Given the description of an element on the screen output the (x, y) to click on. 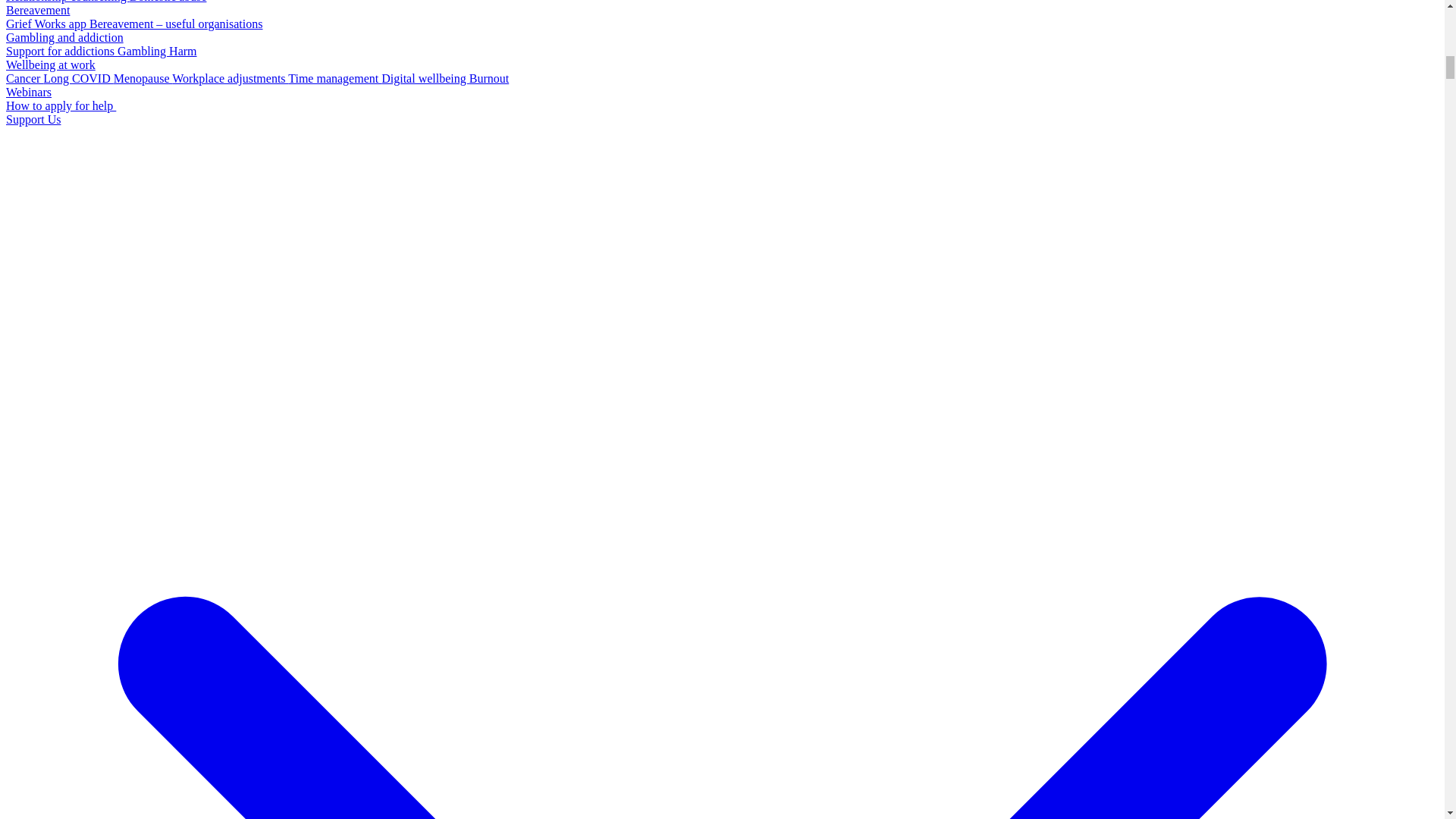
Wellbeing at work (50, 64)
Menopause (142, 78)
Gambling Harm (156, 51)
Support for addictions (61, 51)
Grief Works app (46, 23)
How to apply for help  (60, 105)
Relationship counselling (67, 1)
Bereavement (37, 10)
Domestic abuse (167, 1)
Digital wellbeing (424, 78)
